Given the description of an element on the screen output the (x, y) to click on. 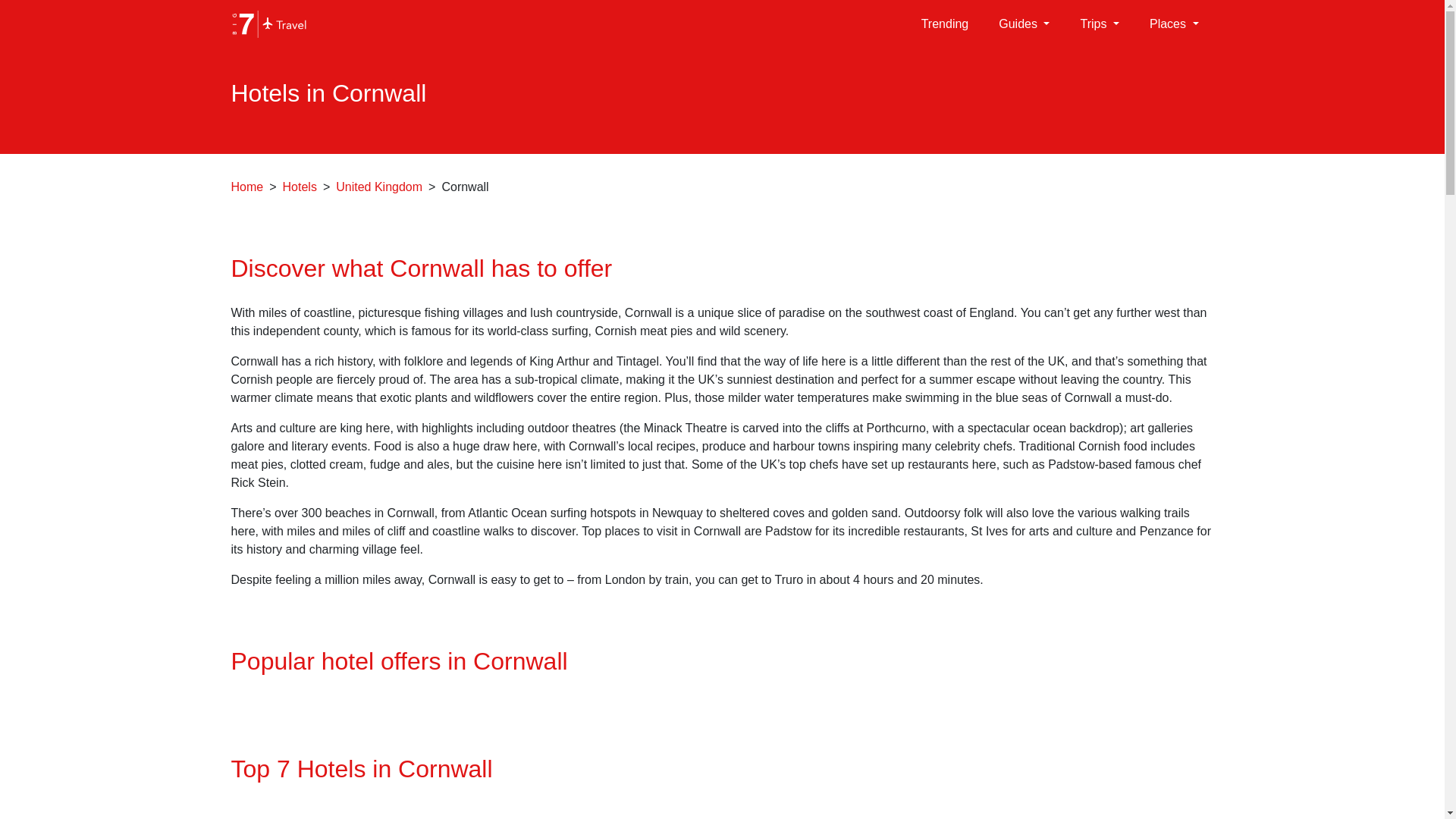
Guides (1024, 24)
Hotels (299, 186)
United Kingdom (379, 186)
Home (246, 186)
Trips (1099, 24)
Trending (944, 24)
Places (1174, 24)
